Given the description of an element on the screen output the (x, y) to click on. 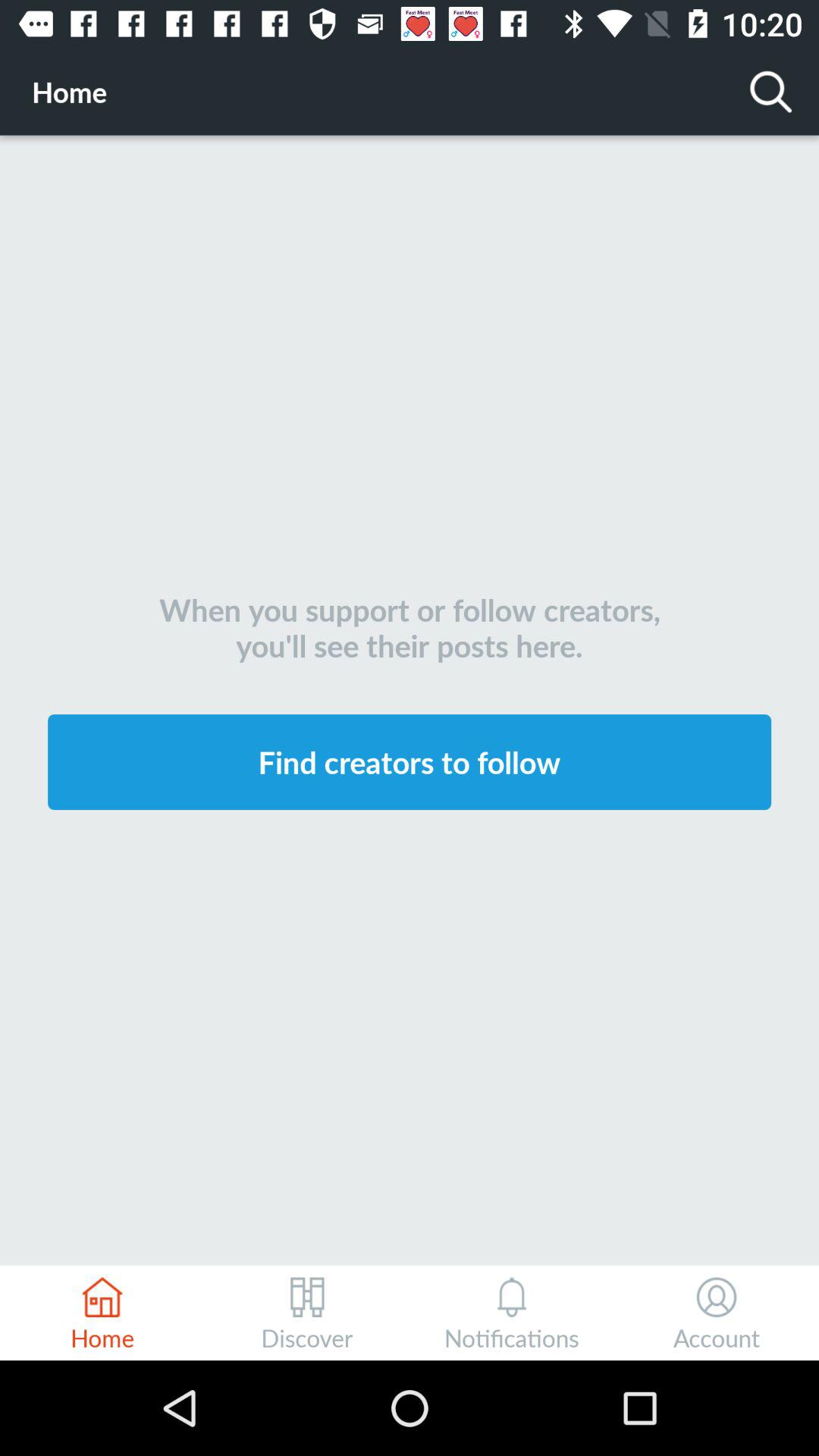
turn on find creators to (409, 761)
